Given the description of an element on the screen output the (x, y) to click on. 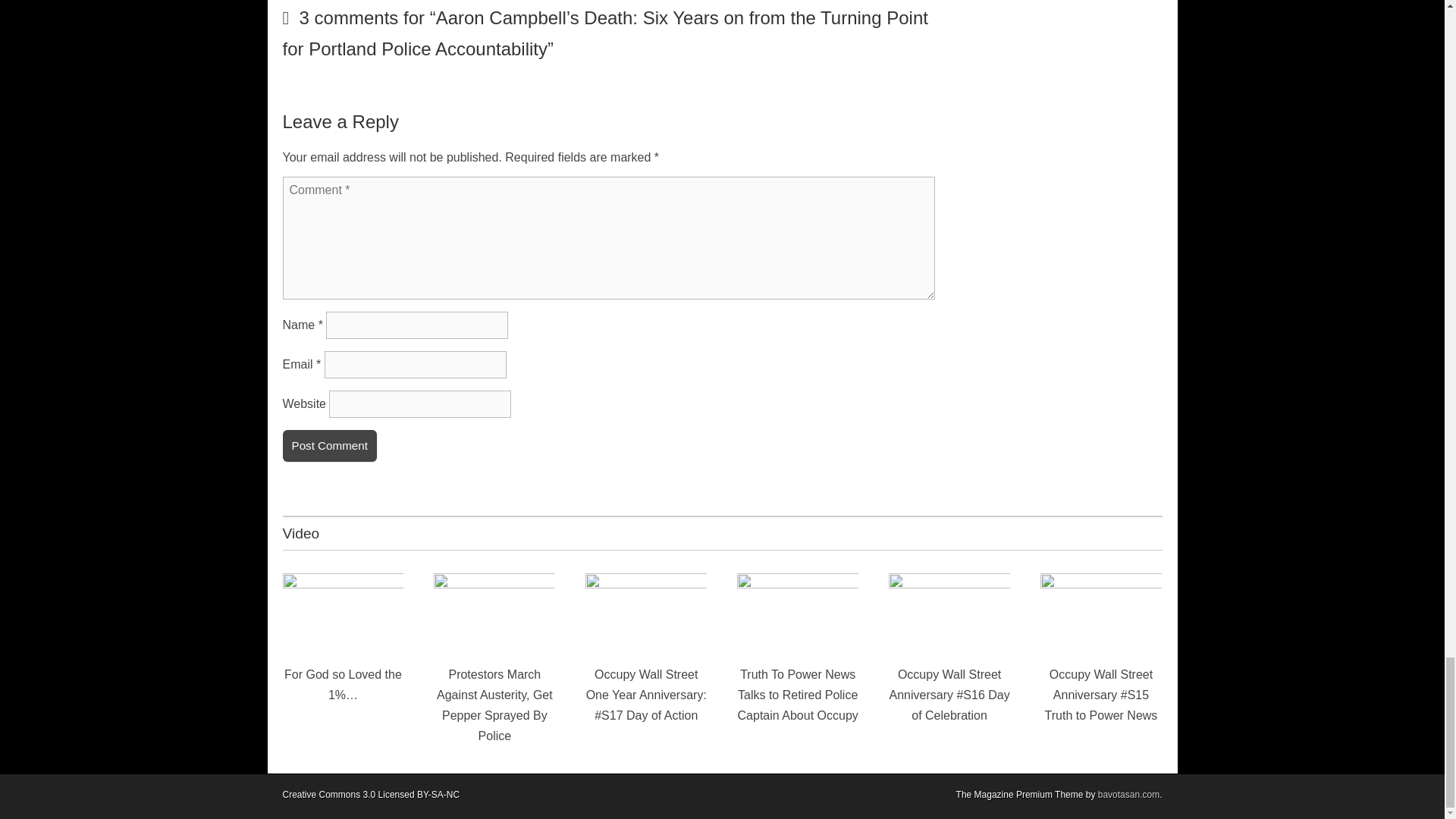
Post Comment (328, 445)
Post Comment (328, 445)
